Given the description of an element on the screen output the (x, y) to click on. 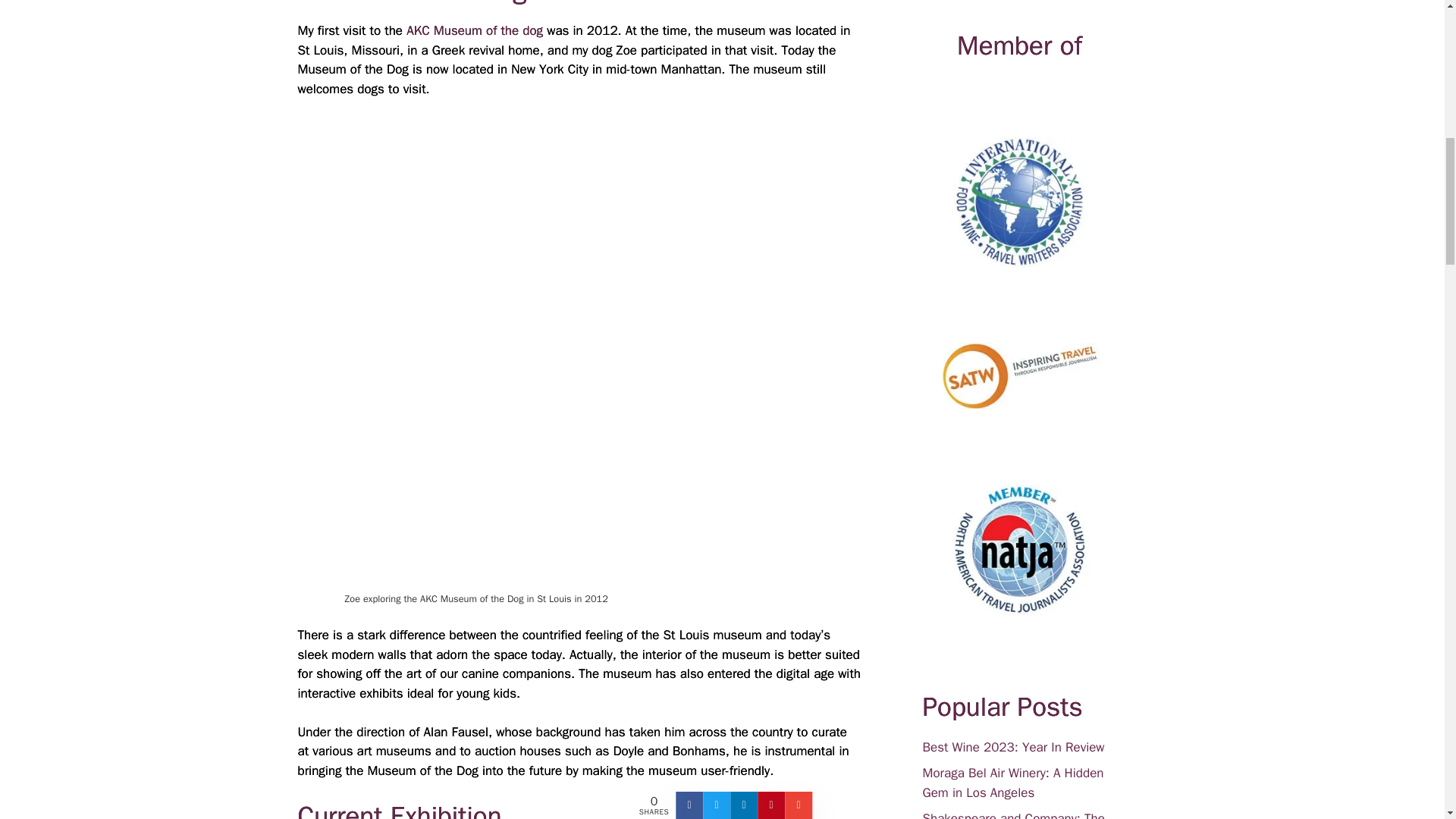
Scroll back to top (1406, 720)
AKC Museum of the dog (474, 30)
